Given the description of an element on the screen output the (x, y) to click on. 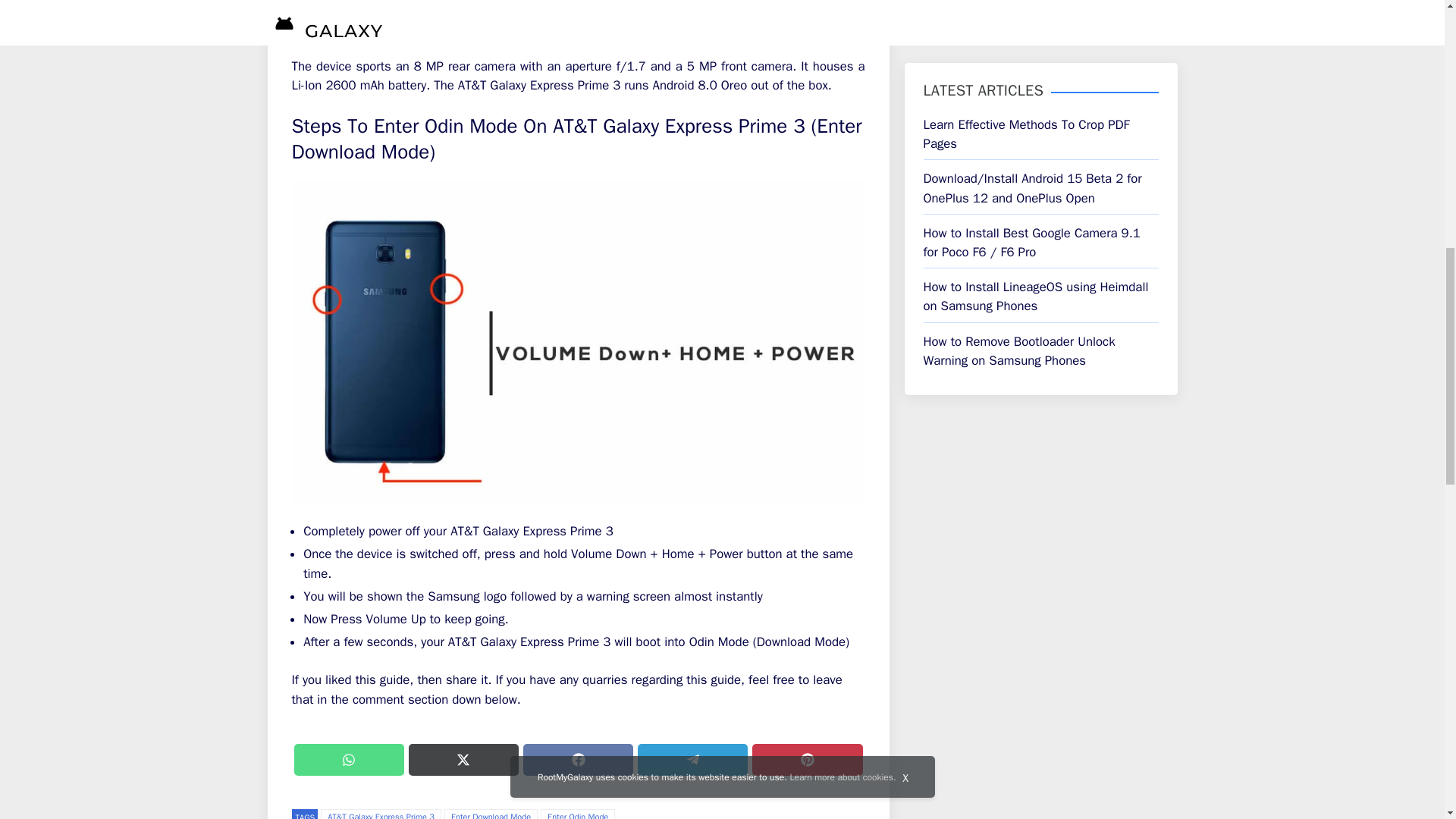
Share on Pinterest (806, 759)
Enter Odin Mode (577, 814)
Share on Telegram (692, 759)
Enter Download Mode (490, 814)
Share on WhatsApp (349, 759)
Share on Facebook (577, 759)
